Given the description of an element on the screen output the (x, y) to click on. 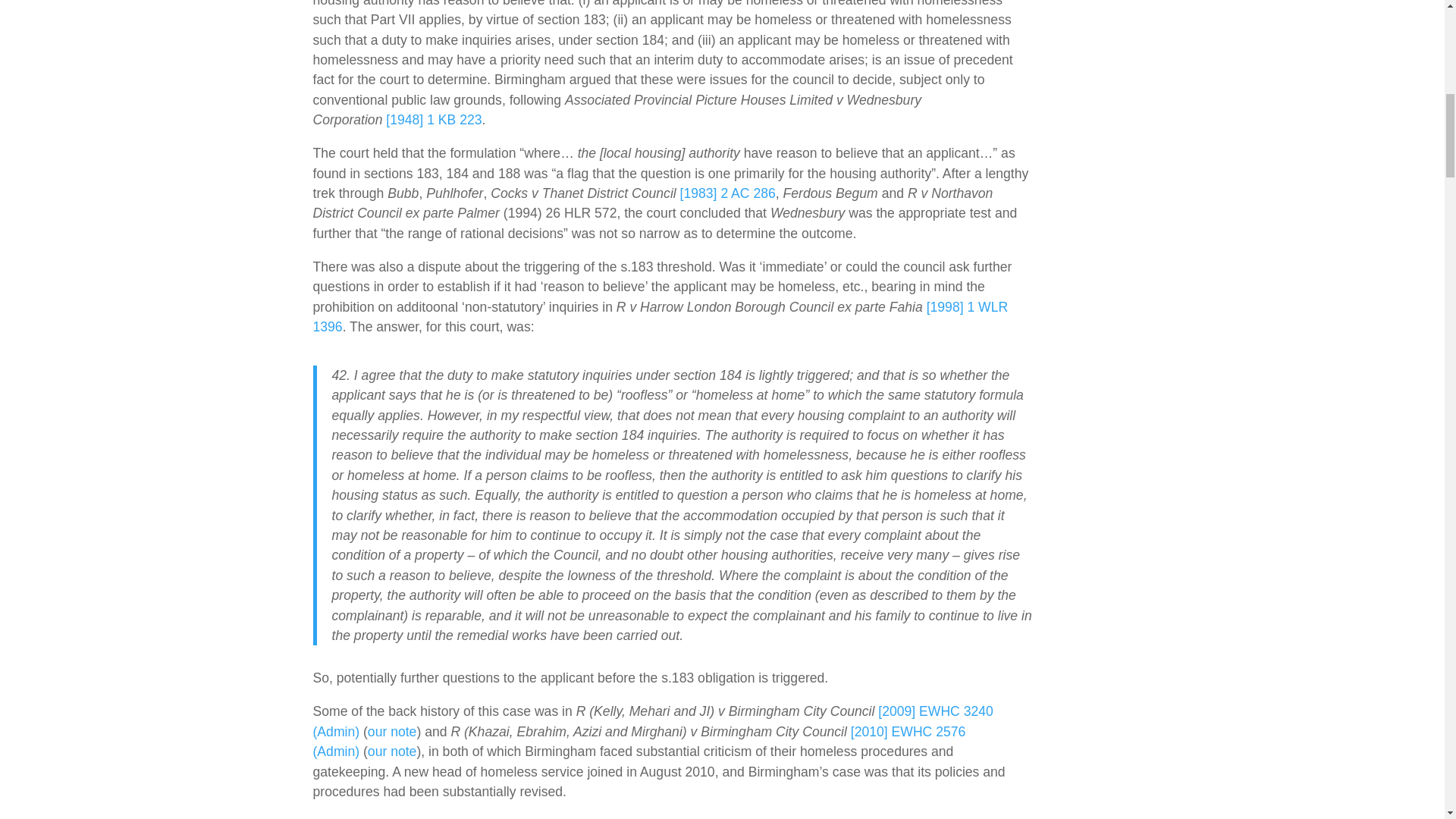
Link to BAILII version (727, 192)
Link to BAILII version (433, 119)
Link to BAILII version (660, 316)
Link to BAILII version (639, 741)
Link to BAILII version (652, 720)
